Given the description of an element on the screen output the (x, y) to click on. 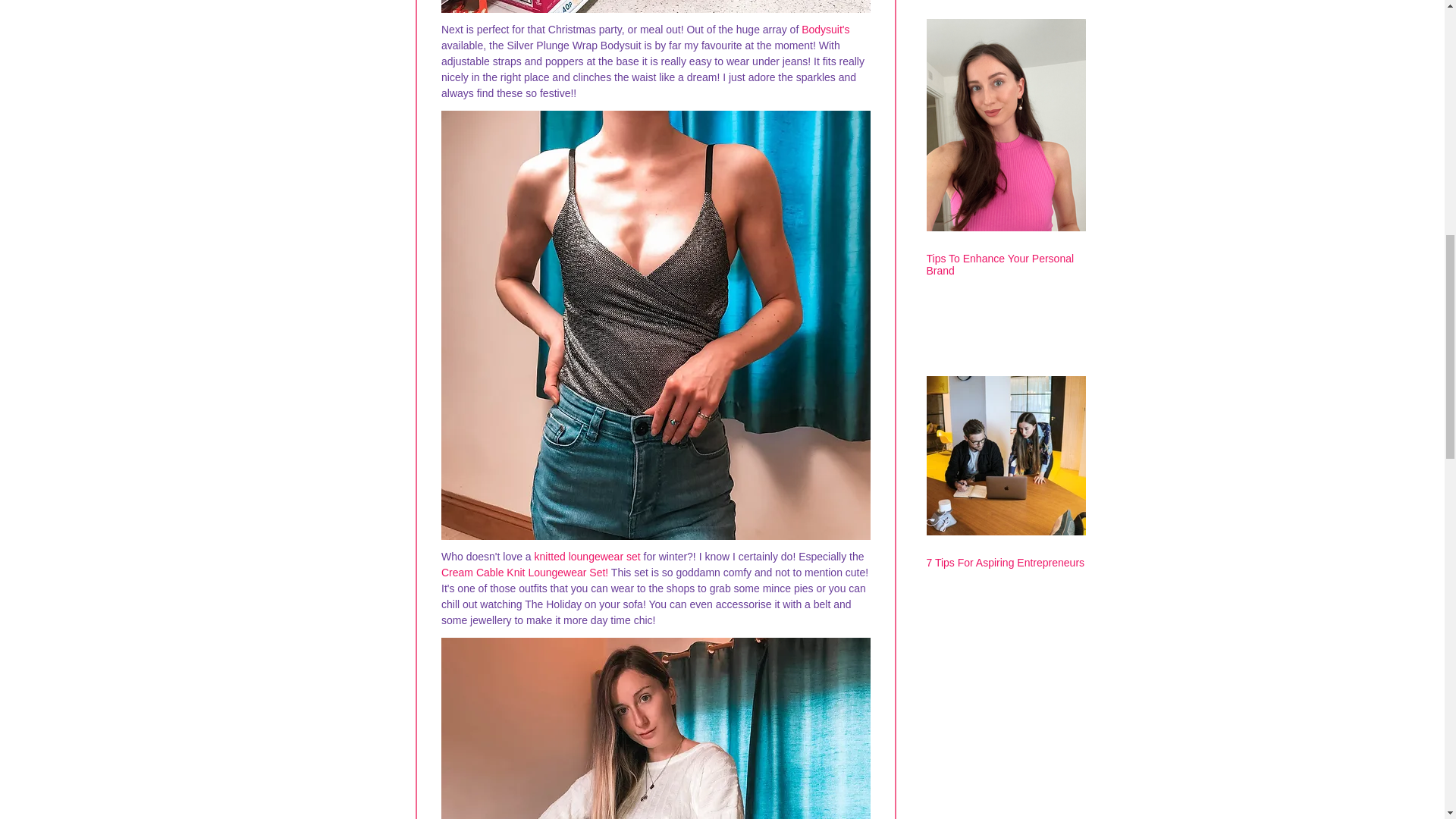
Cream Cable Knit Loungewear Set! (524, 572)
Tips To Enhance Your Personal Brand (1006, 264)
knitted loungewear set (587, 556)
7 Tips For Aspiring Entrepreneurs (1006, 562)
Bodysuit's (825, 29)
